Given the description of an element on the screen output the (x, y) to click on. 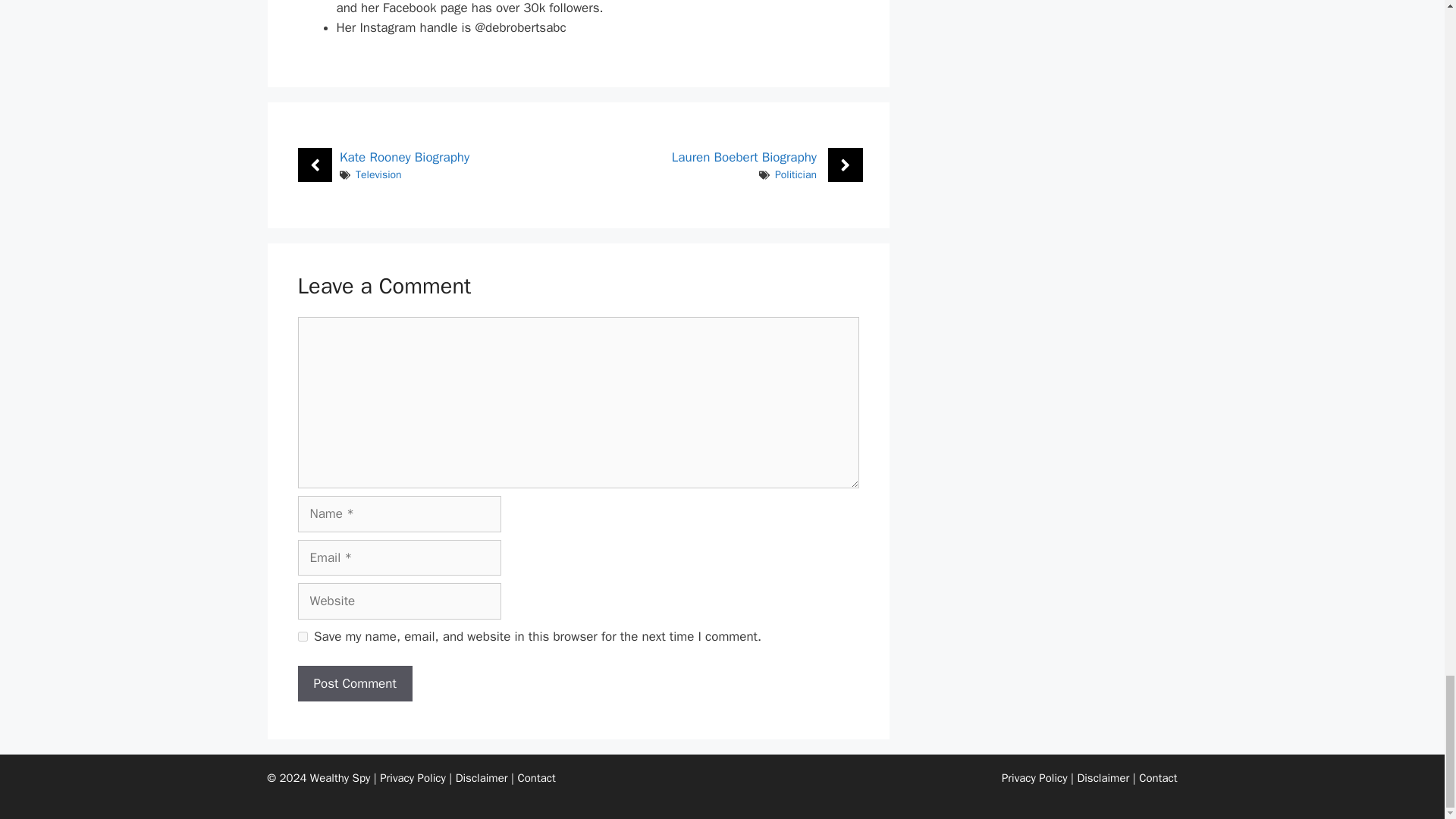
yes (302, 636)
Post Comment (354, 683)
Television (378, 174)
Post Comment (354, 683)
Kate Rooney Biography (403, 157)
Lauren Boebert Biography (743, 157)
Politician (795, 174)
